Given the description of an element on the screen output the (x, y) to click on. 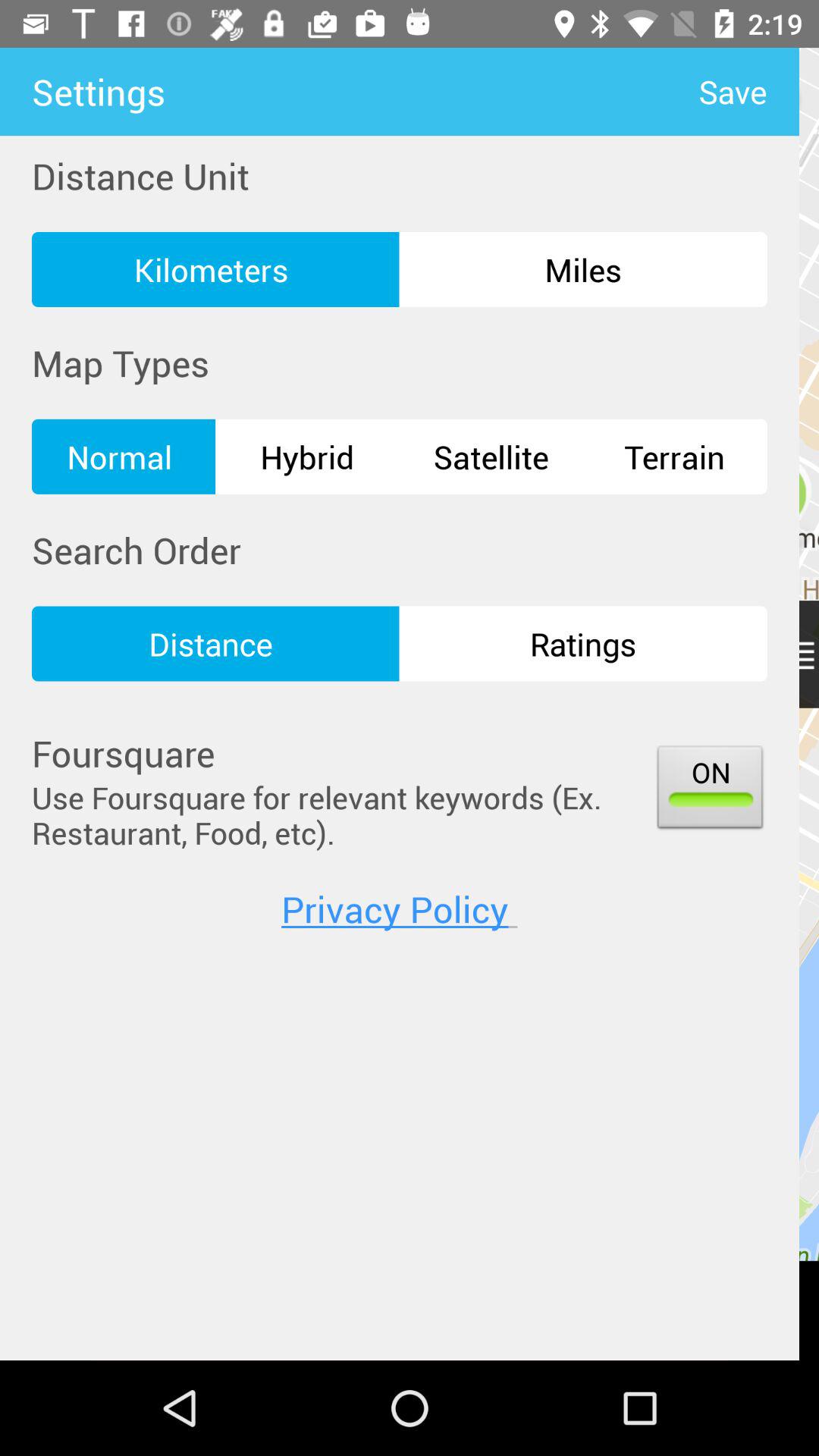
open icon to the right of use foursquare for (710, 790)
